Given the description of an element on the screen output the (x, y) to click on. 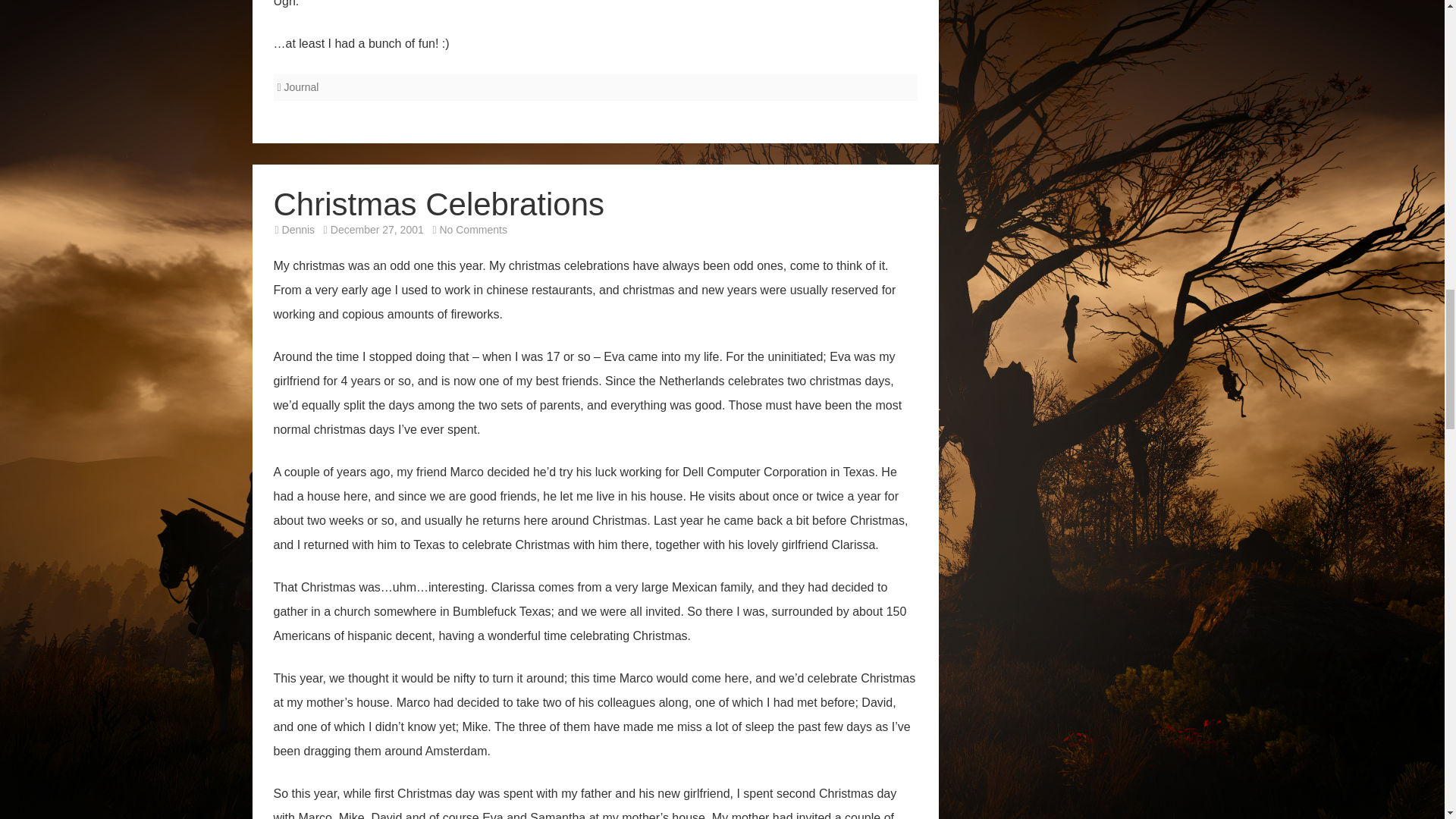
Christmas Celebrations (438, 203)
Dennis (298, 229)
Journal (472, 229)
